Given the description of an element on the screen output the (x, y) to click on. 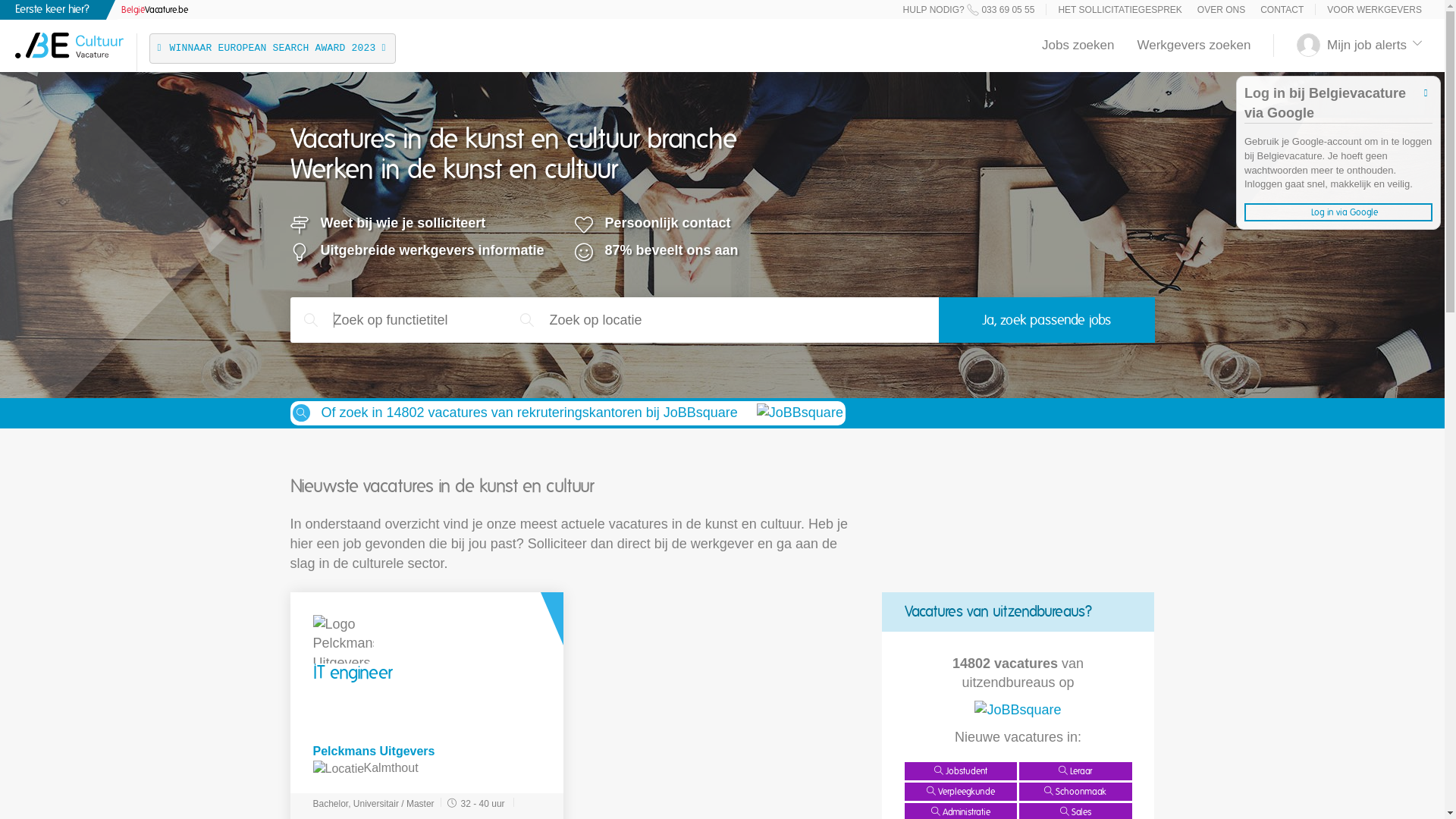
Jobs zoeken Element type: text (1077, 45)
CONTACT Element type: text (1281, 9)
Werkgevers zoeken Element type: text (1193, 45)
Log in via Google Element type: text (1338, 212)
HULP NODIG? 033 69 05 55 Element type: text (968, 9)
Eerste keer hier? Element type: text (58, 9)
IT engineer Element type: text (352, 673)
 Leraar Element type: text (1075, 771)
cultuur.belgievacature.be Element type: hover (69, 38)
HET SOLLICITATIEGESPREK Element type: text (1119, 9)
 Schoonmaak Element type: text (1075, 791)
Locatie Element type: hover (338, 769)
OVER ONS Element type: text (1220, 9)
 Jobstudent Element type: text (959, 771)
Pelckmans Uitgevers Element type: hover (342, 639)
Ja, zoek passende jobs Element type: text (1046, 319)
Pelckmans Uitgevers Element type: text (425, 751)
 Verpleegkunde Element type: text (959, 791)
VOOR WERKGEVERS Element type: text (1374, 9)
